Given the description of an element on the screen output the (x, y) to click on. 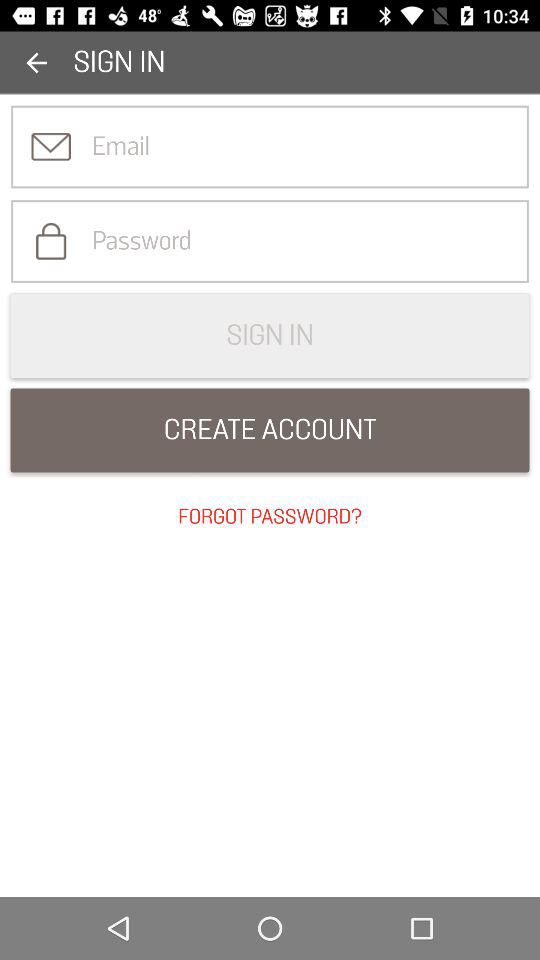
turn off create account (269, 430)
